Given the description of an element on the screen output the (x, y) to click on. 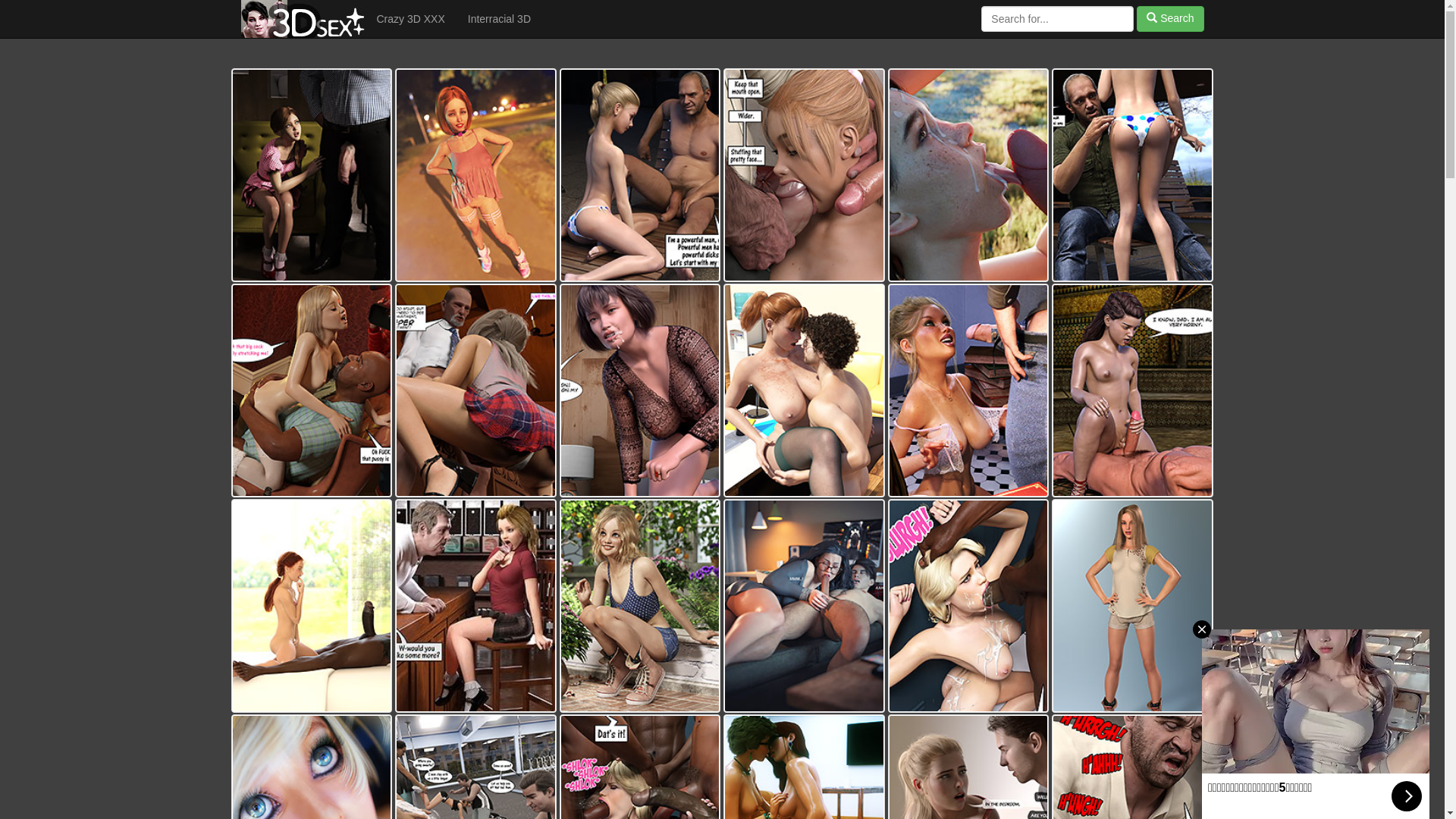
Crazy 3D XXX Element type: text (410, 18)
Interracial 3D Element type: text (499, 18)
Search Element type: text (1169, 18)
